Given the description of an element on the screen output the (x, y) to click on. 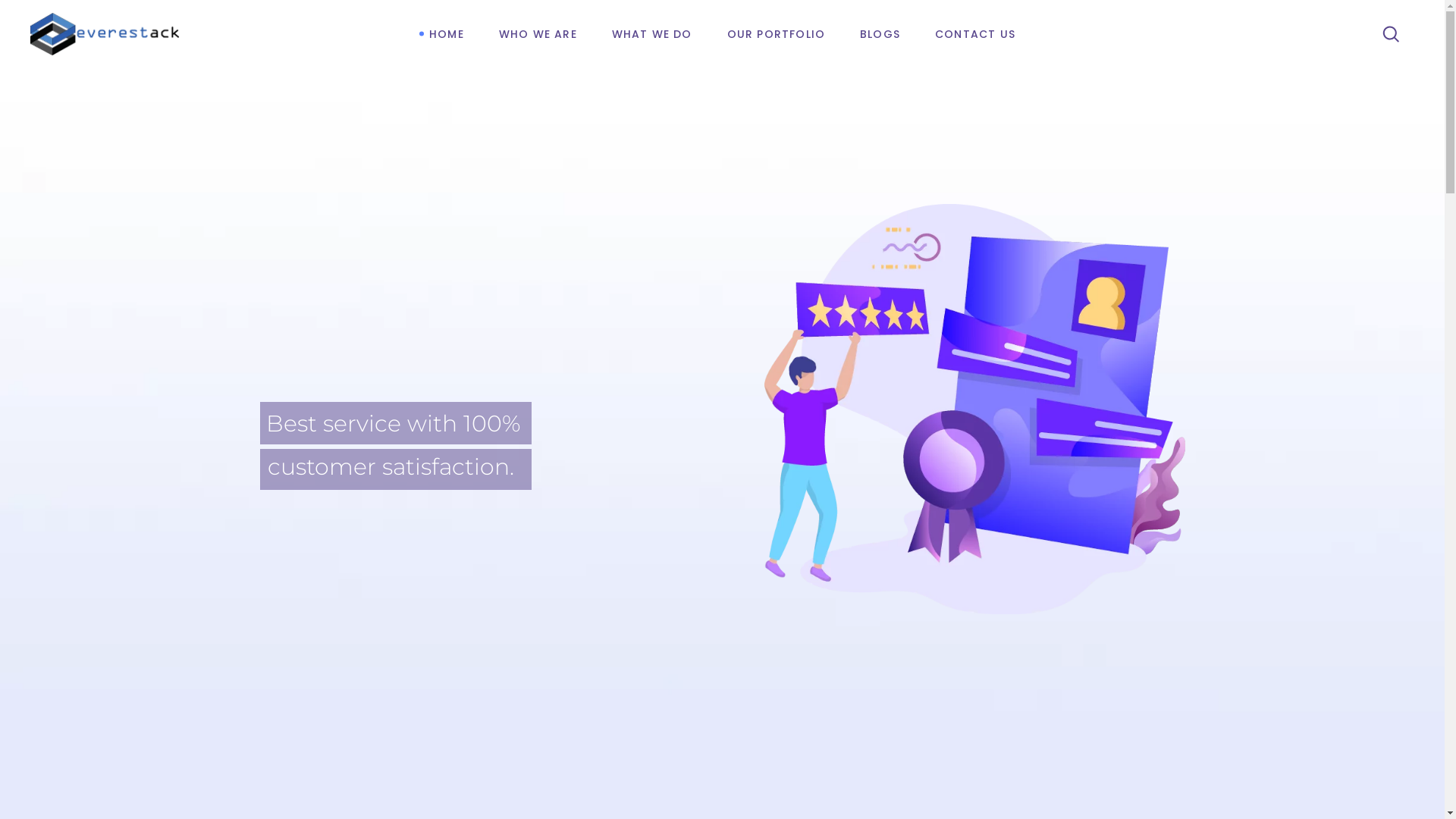
WHO WE ARE Element type: text (537, 34)
BLOGS Element type: text (879, 34)
CONTACT US Element type: text (974, 34)
WHAT WE DO Element type: text (651, 34)
OUR PORTFOLIO Element type: text (775, 34)
HOME Element type: text (446, 34)
